Given the description of an element on the screen output the (x, y) to click on. 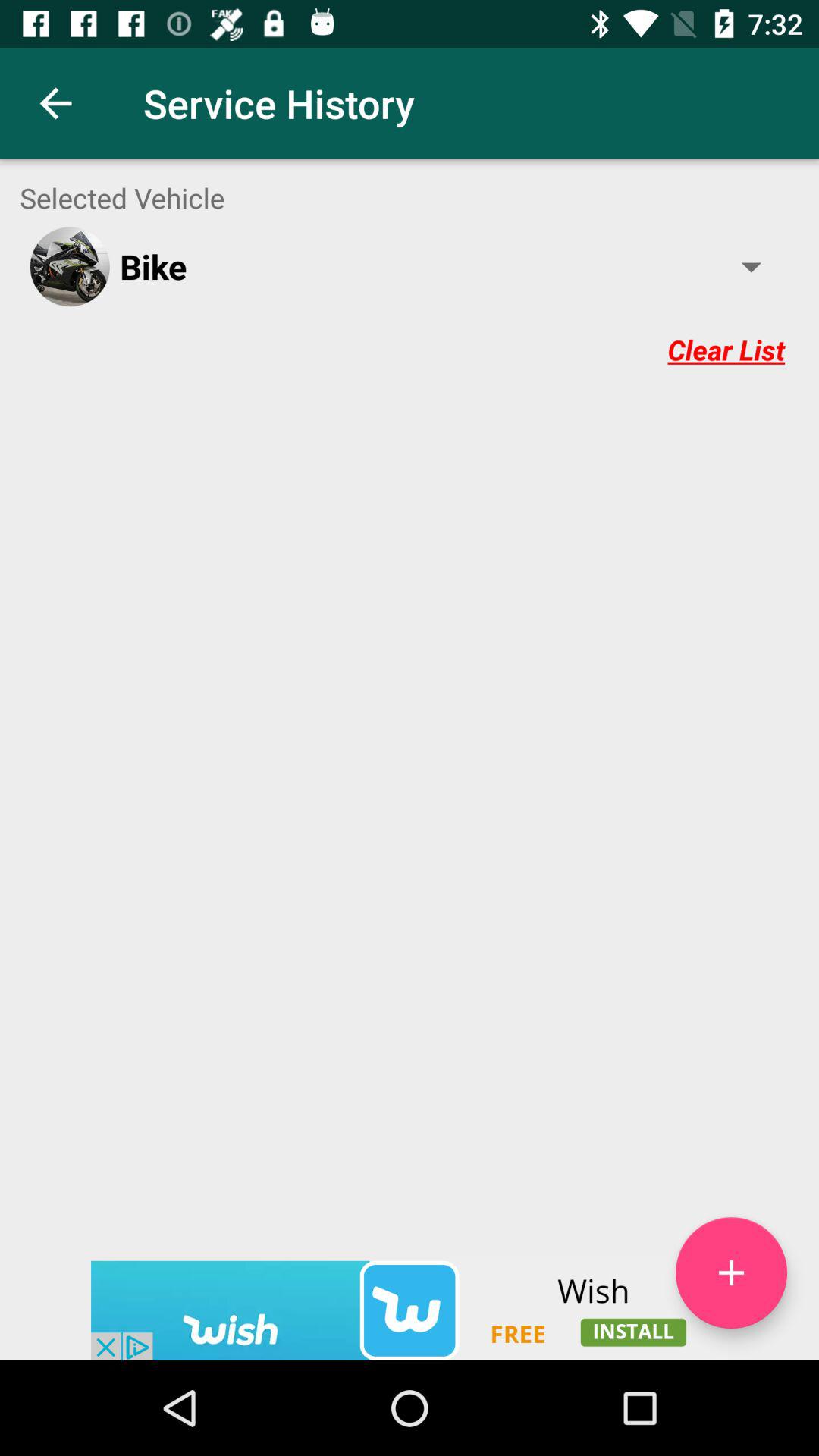
add button to add new option to the list (731, 1272)
